Given the description of an element on the screen output the (x, y) to click on. 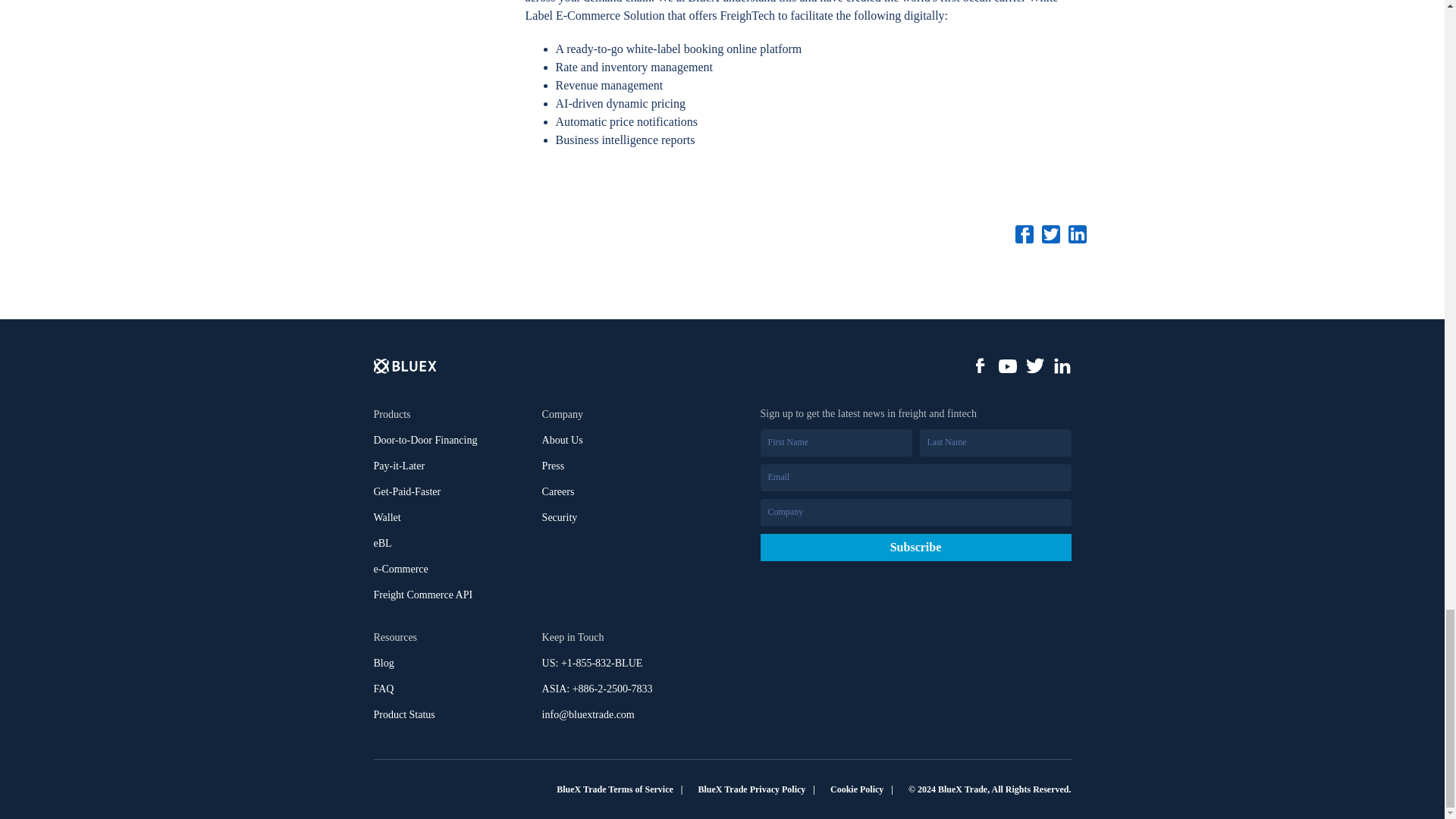
Product Status (402, 714)
twitter (1034, 366)
eBL (381, 543)
Wallet (386, 517)
Get-Paid-Faster (406, 492)
Door-to-Door Financing (424, 440)
About Us (562, 440)
eBL (381, 543)
Careers (558, 492)
e-Commerce (400, 569)
Pay-it-Later (398, 466)
Get-Paid-Faster (406, 492)
Freight Commerce API (421, 595)
facebook (979, 366)
Door-to-Door Financing (424, 440)
